Given the description of an element on the screen output the (x, y) to click on. 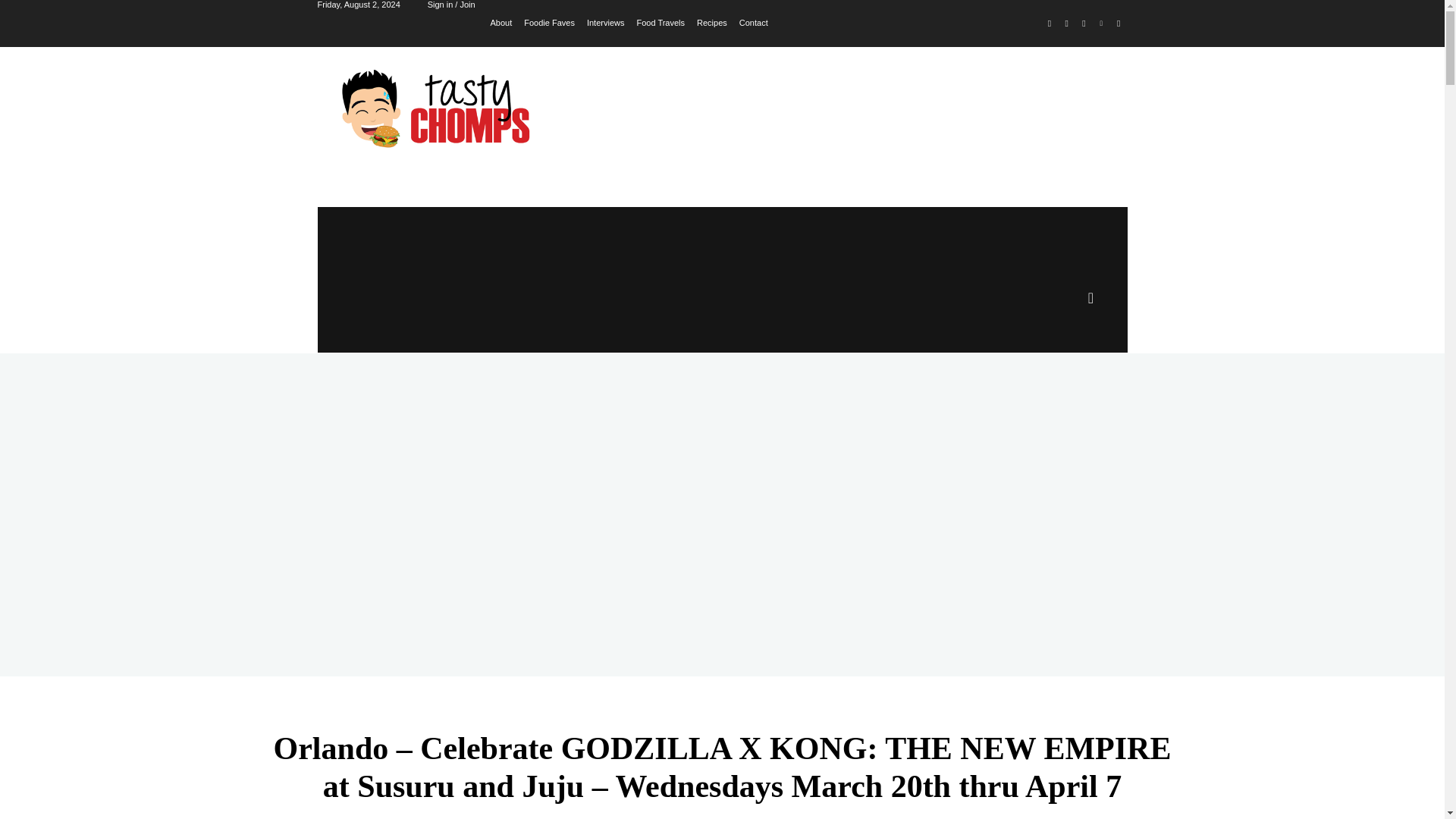
Interviews (605, 22)
Facebook (1049, 23)
Food Travels (660, 22)
Foodie Faves (549, 22)
Vimeo (1101, 23)
Youtube (1117, 23)
Recipes (711, 22)
Twitter (1084, 23)
Instagram (1066, 23)
About (501, 22)
Contact (753, 22)
Tasty Chomps Orlando Food Blog (439, 108)
